Given the description of an element on the screen output the (x, y) to click on. 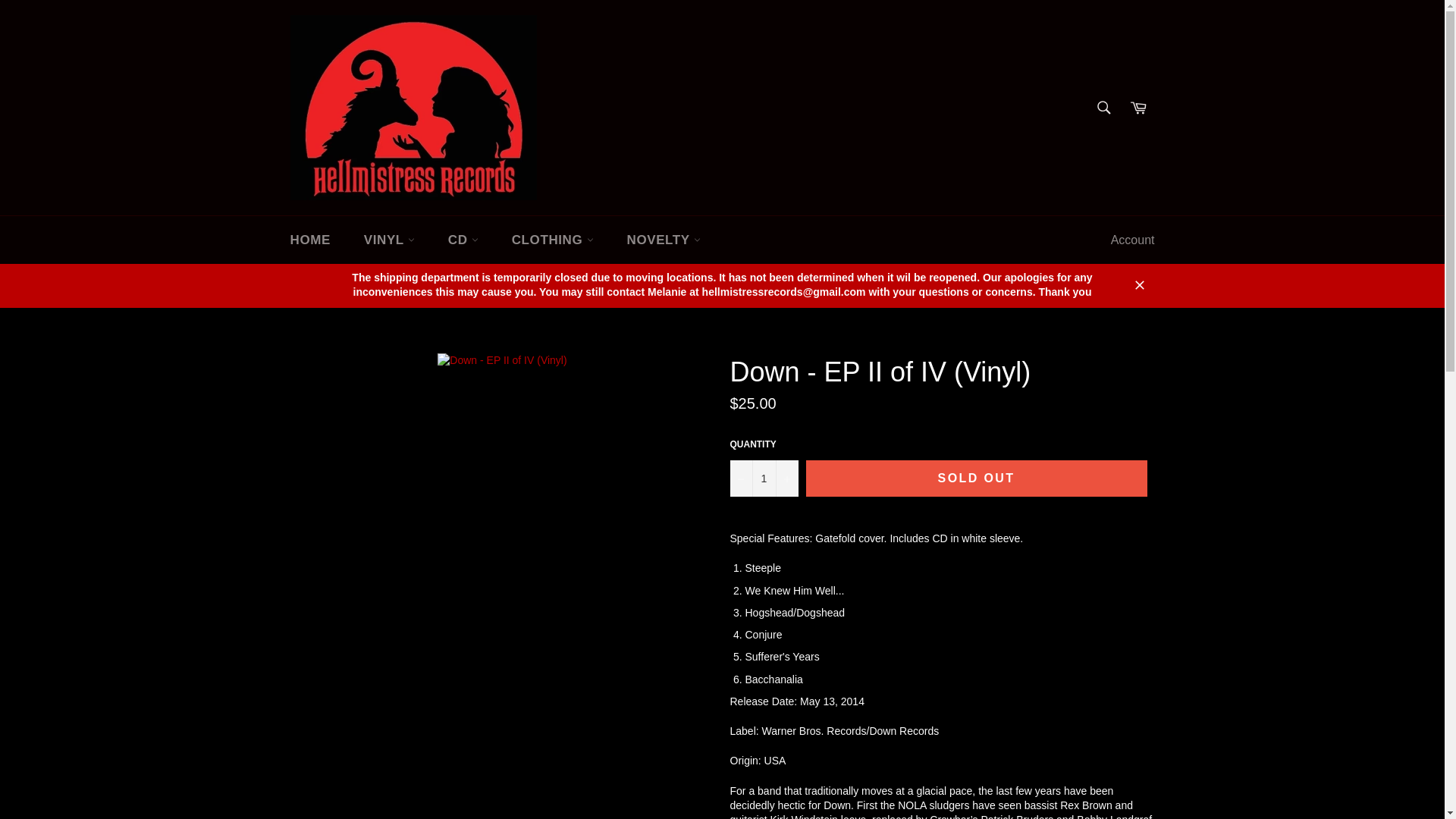
1 (763, 478)
HOME (310, 239)
Search (1103, 107)
Cart (1138, 107)
VINYL (389, 239)
